Given the description of an element on the screen output the (x, y) to click on. 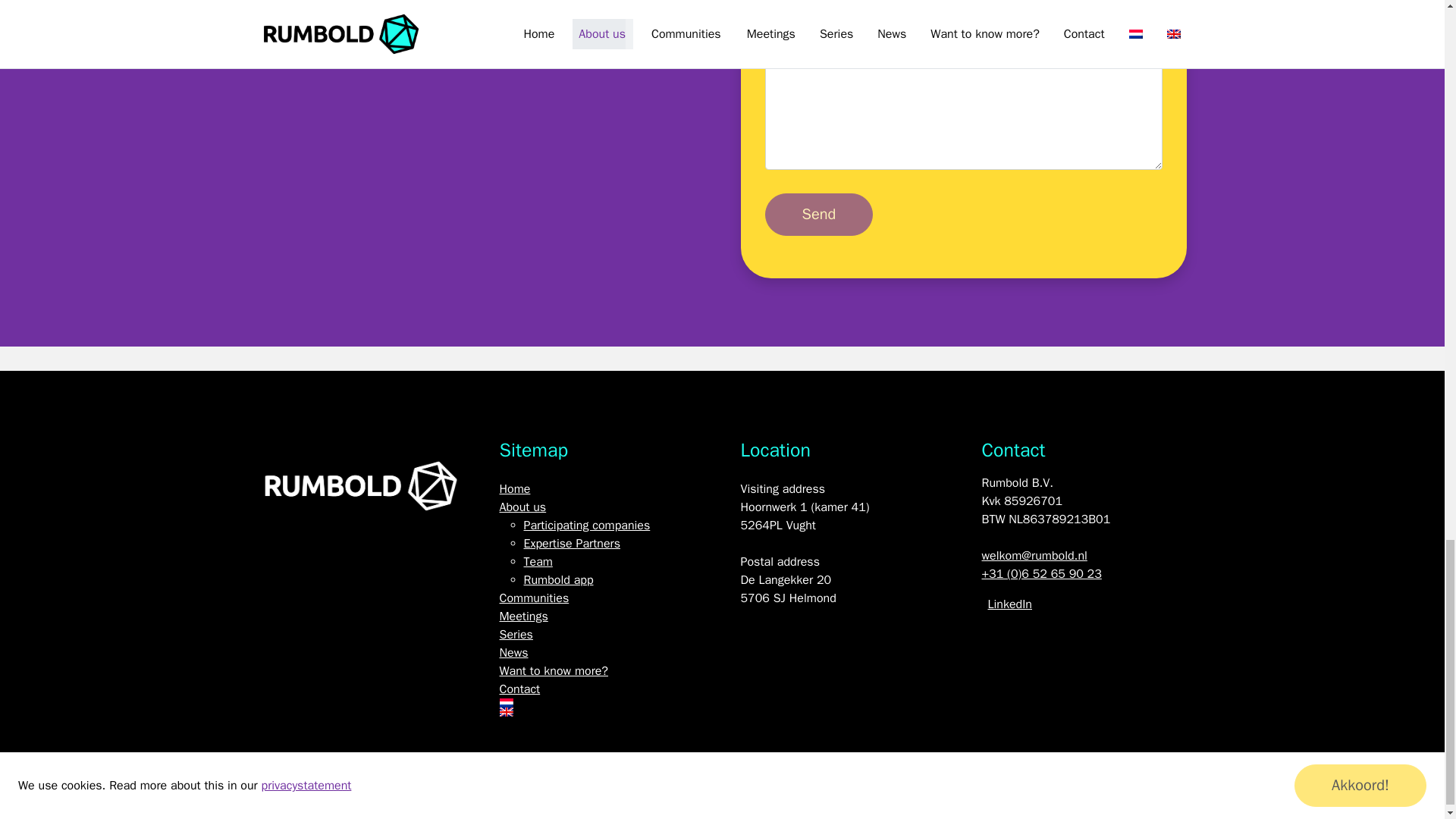
Participating companies (585, 525)
About us (522, 507)
Home (514, 488)
Team (536, 561)
Expertise Partners (571, 543)
Communities (534, 598)
Rumbold app (557, 580)
Send (818, 214)
Send (818, 214)
Series (515, 634)
Meetings (523, 616)
